Given the description of an element on the screen output the (x, y) to click on. 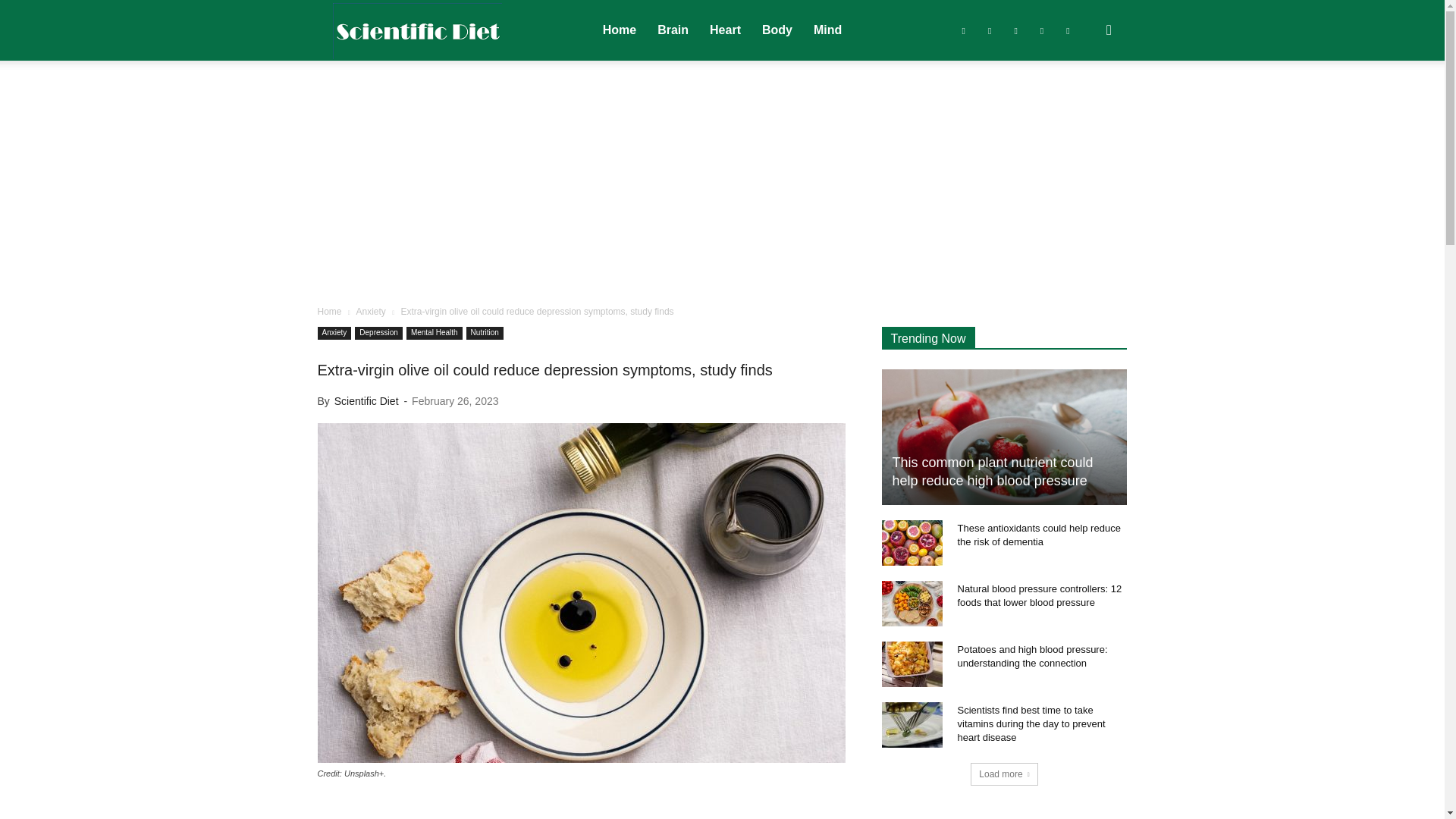
Scientific Diet (416, 30)
Scientific Diet (366, 400)
Anxiety (333, 332)
Nutrition (484, 332)
Home (619, 30)
Mental Health (434, 332)
Scientific Diet (416, 30)
Home (328, 311)
Depression (379, 332)
Anxiety (370, 311)
